Given the description of an element on the screen output the (x, y) to click on. 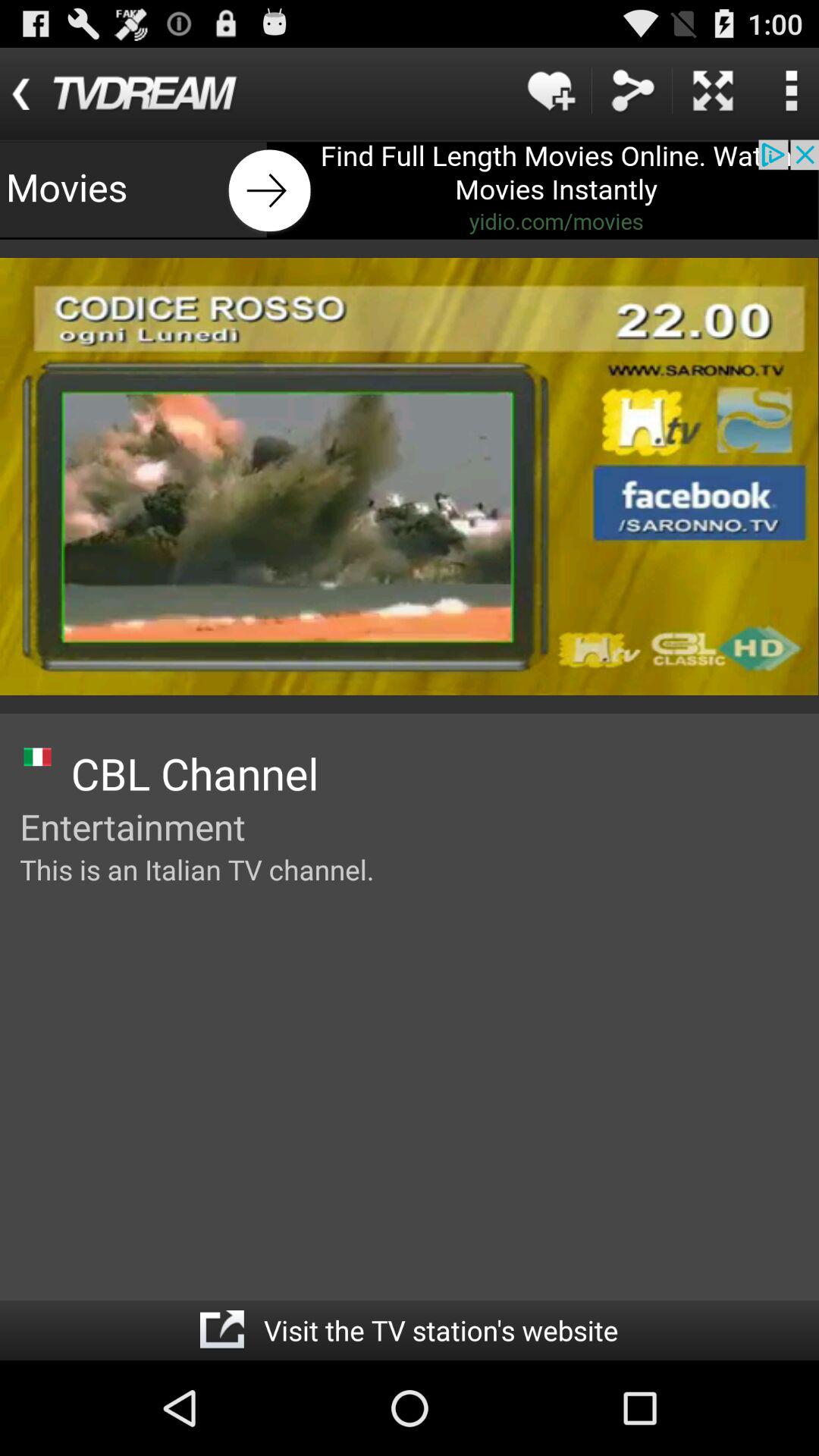
share to media (632, 90)
